Given the description of an element on the screen output the (x, y) to click on. 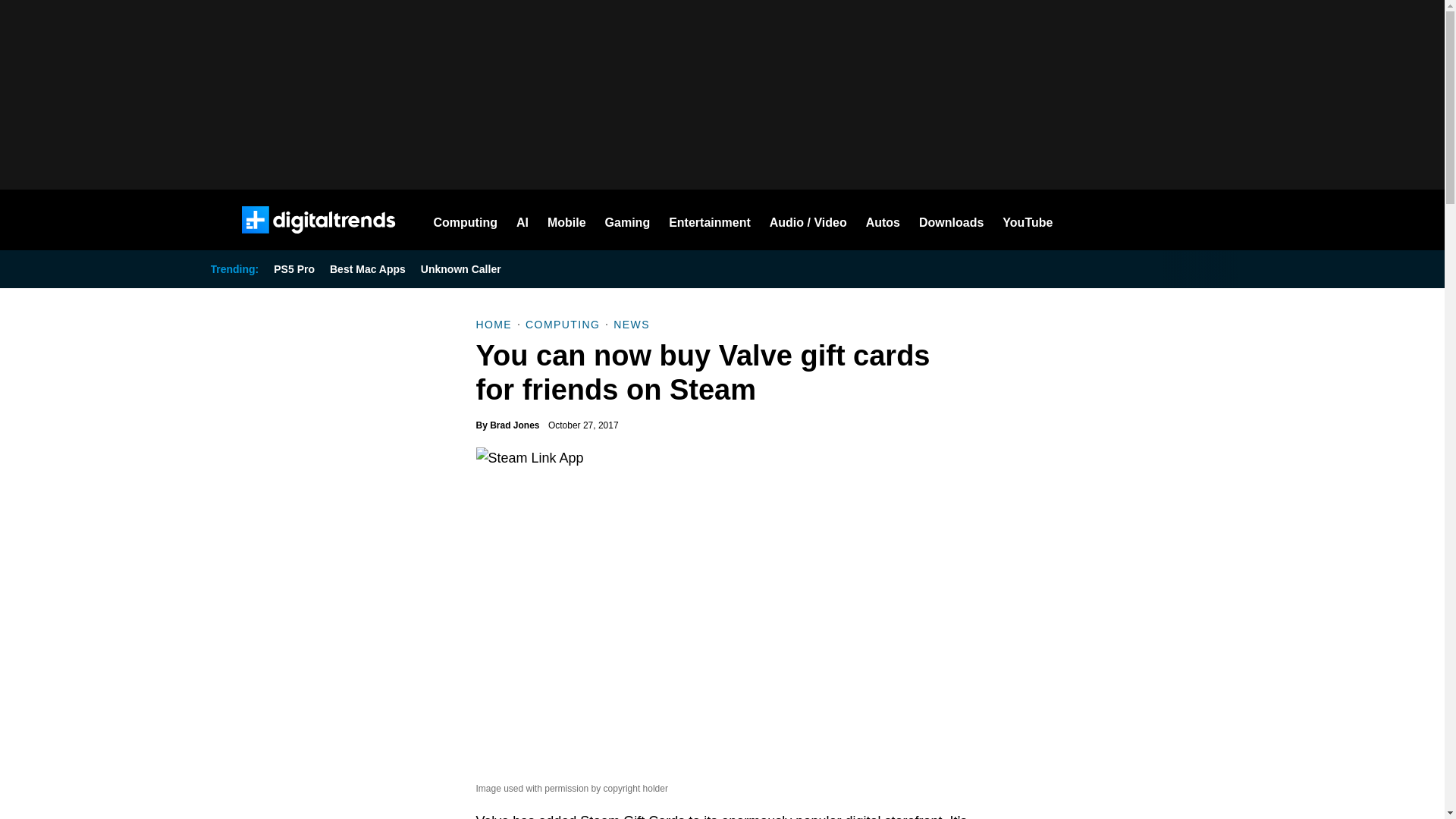
Entertainment (709, 219)
Mobile (566, 219)
Autos (882, 219)
Computing (465, 219)
YouTube (1027, 219)
Gaming (627, 219)
AI (522, 219)
Downloads (951, 219)
